Given the description of an element on the screen output the (x, y) to click on. 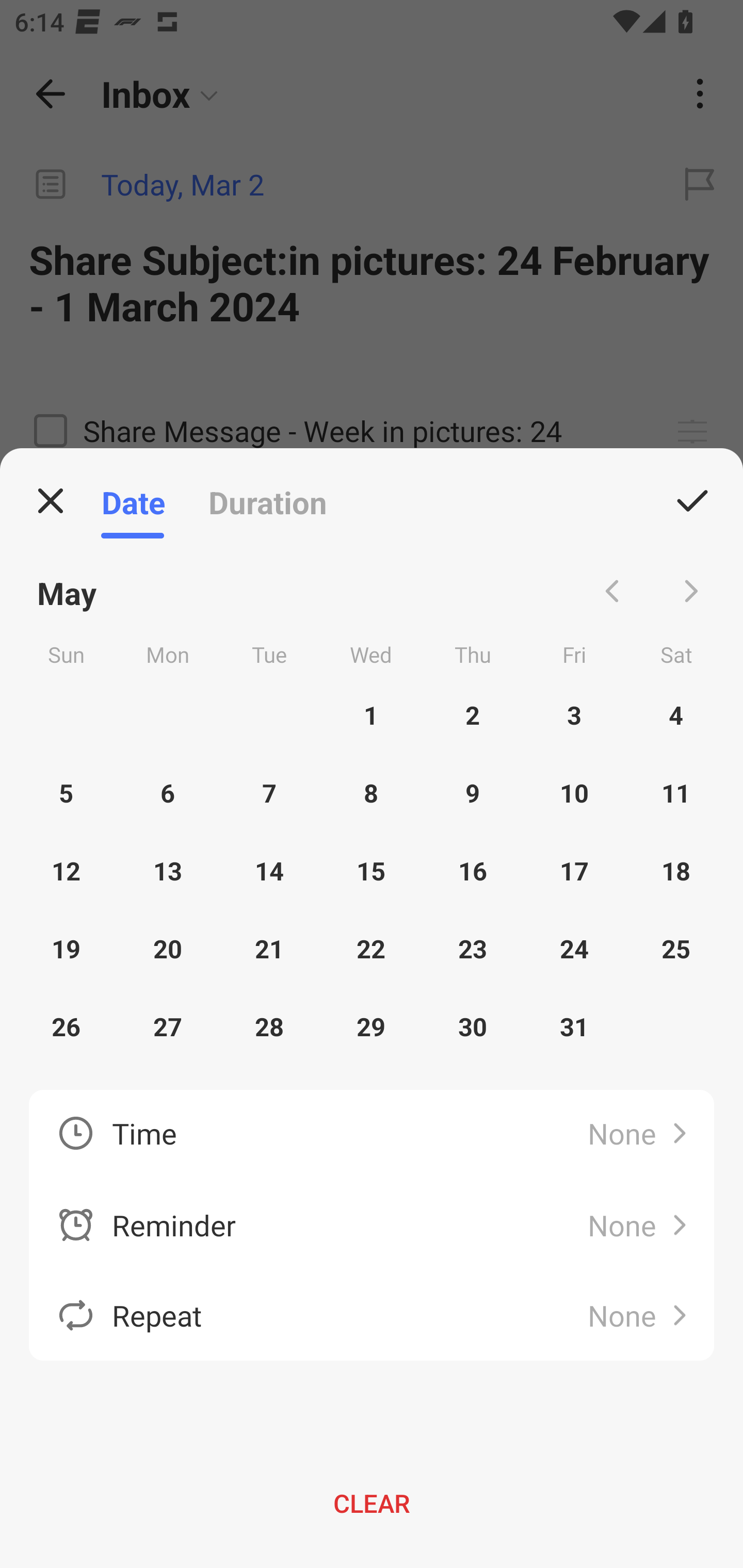
Duration (267, 501)
May (66, 591)
Time None (371, 1134)
Reminder None (371, 1225)
Repeat None (371, 1315)
CLEAR (371, 1502)
